Given the description of an element on the screen output the (x, y) to click on. 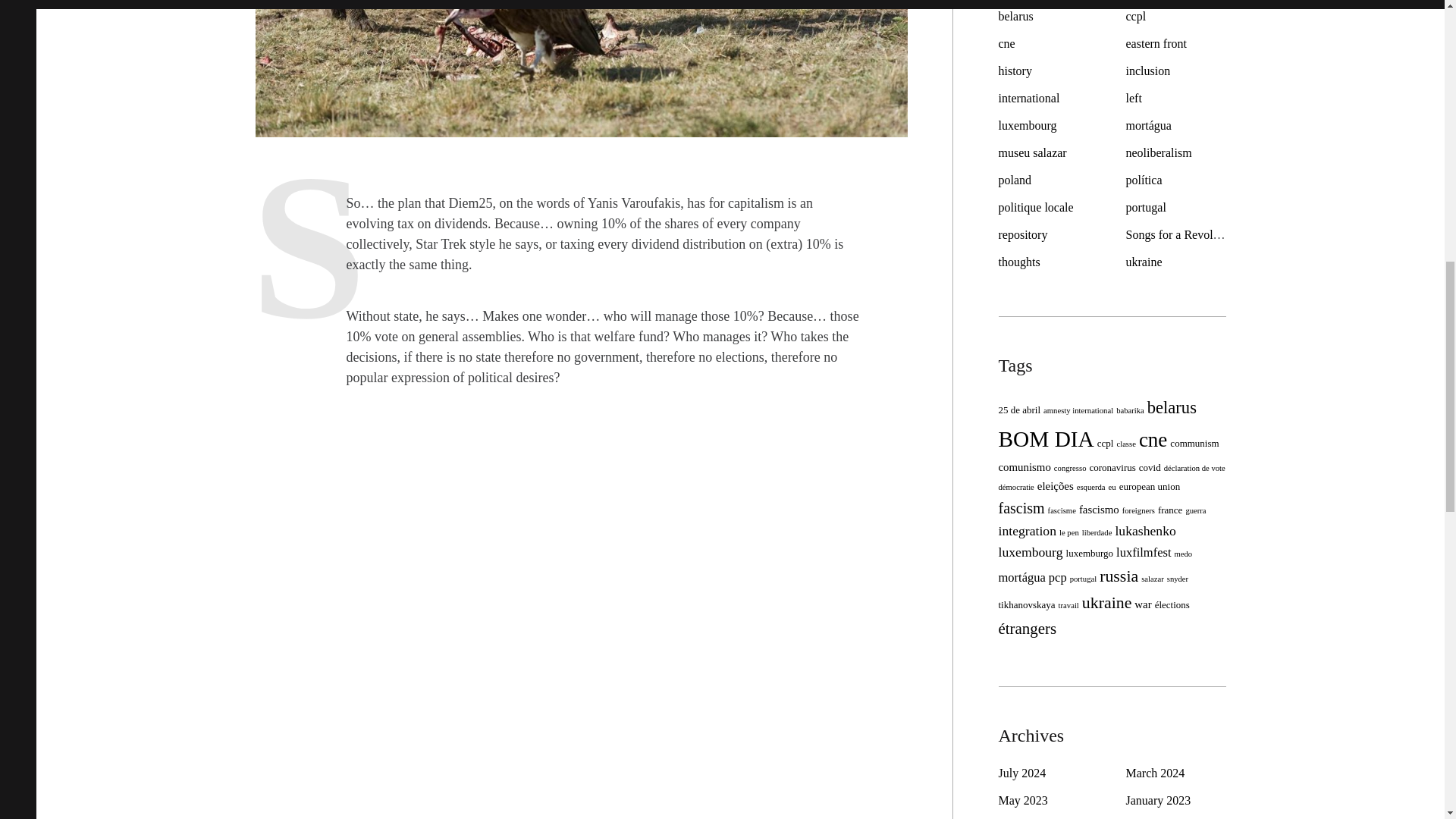
belarus (1014, 15)
ccpl (1135, 15)
eastern front (1155, 42)
cne (1005, 42)
